Given the description of an element on the screen output the (x, y) to click on. 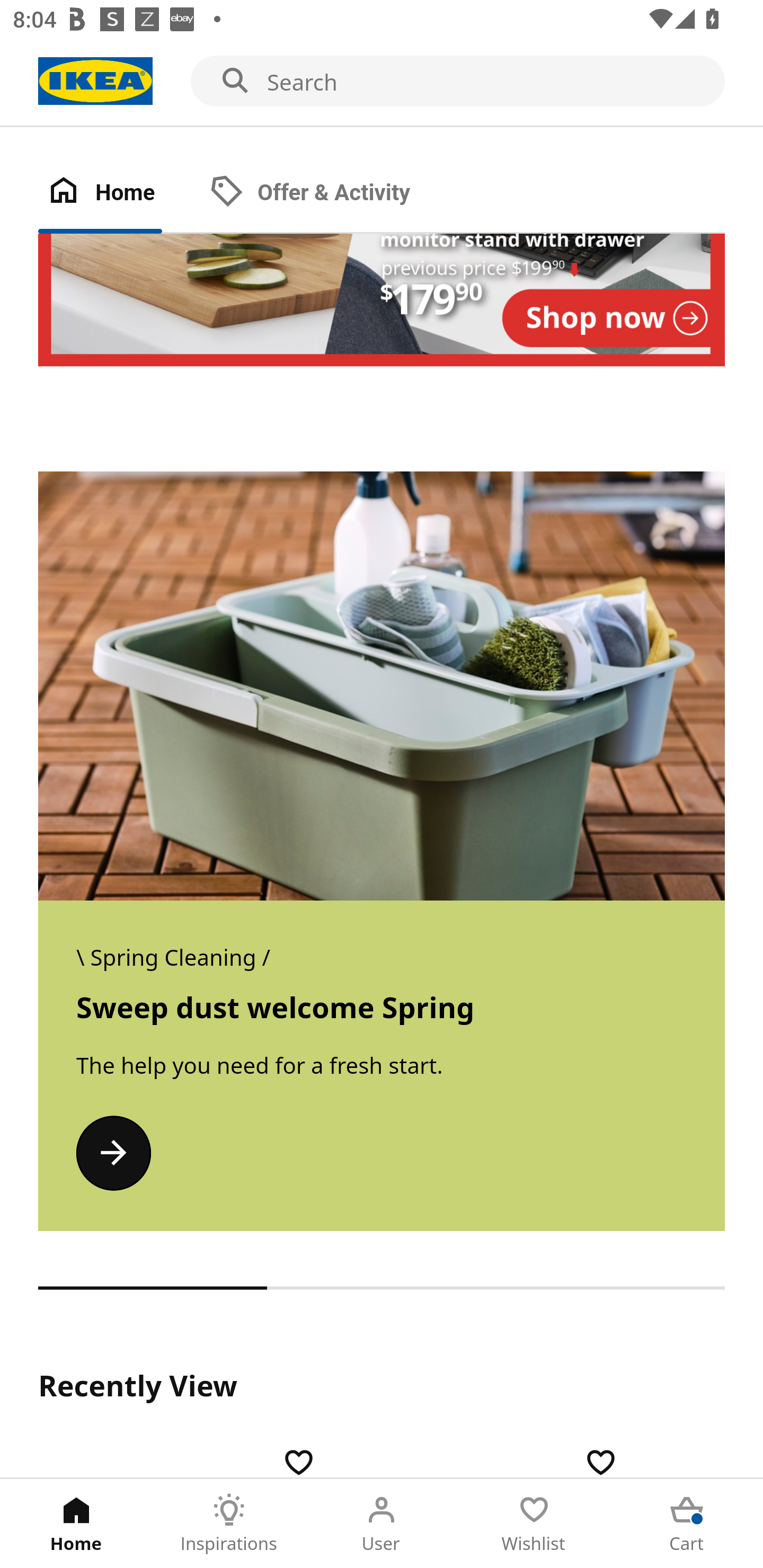
Search (381, 81)
Home
Tab 1 of 2 (118, 192)
Offer & Activity
Tab 2 of 2 (327, 192)
Home
Tab 1 of 5 (76, 1522)
Inspirations
Tab 2 of 5 (228, 1522)
User
Tab 3 of 5 (381, 1522)
Wishlist
Tab 4 of 5 (533, 1522)
Cart
Tab 5 of 5 (686, 1522)
